Given the description of an element on the screen output the (x, y) to click on. 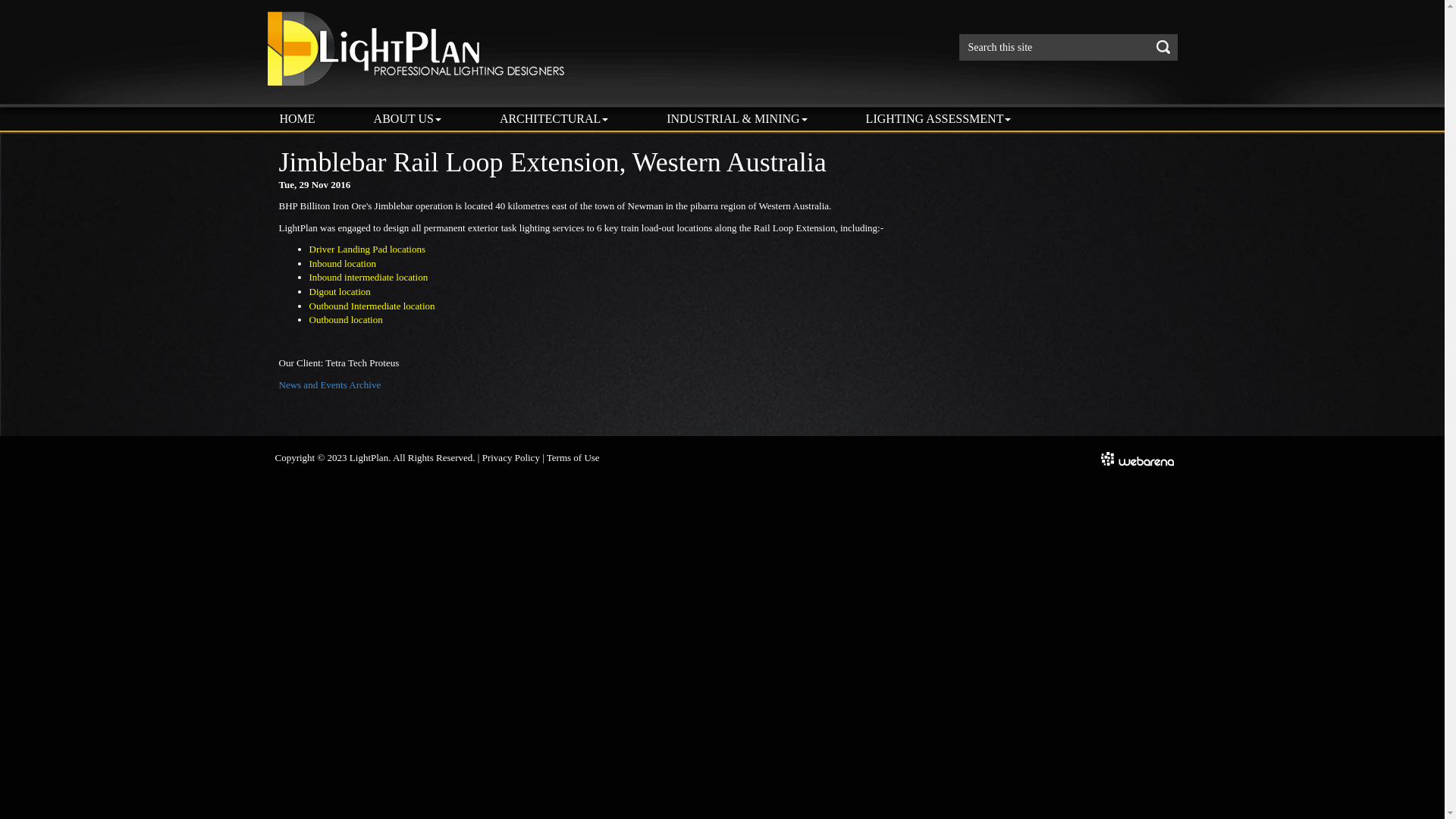
ARCHITECTURAL Element type: text (553, 118)
LIGHTING ASSESSMENT Element type: text (938, 118)
Privacy Policy Element type: text (510, 457)
ABOUT US Element type: text (407, 118)
HOME Element type: text (297, 118)
INDUSTRIAL & MINING Element type: text (736, 118)
Terms of Use Element type: text (572, 457)
News and Events Archive Element type: text (330, 384)
Web Design Perth Australia Element type: hover (1137, 458)
